Given the description of an element on the screen output the (x, y) to click on. 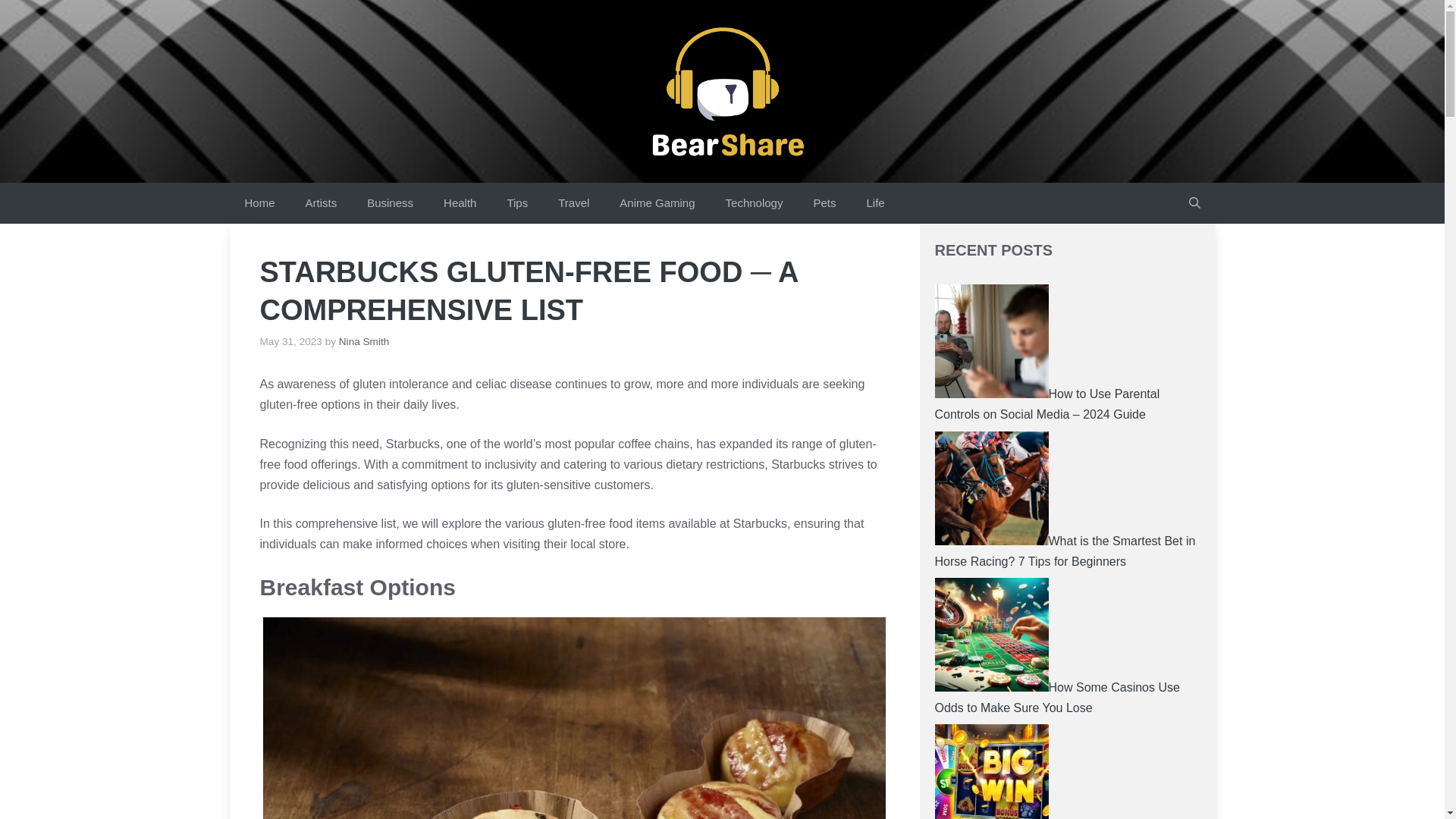
How Some Casinos Use Odds to Make Sure You Lose (1056, 697)
Travel (573, 202)
Pets (823, 202)
Business (390, 202)
Life (874, 202)
Home (258, 202)
Anime Gaming (657, 202)
Health (460, 202)
Technology (753, 202)
Nina Smith (363, 341)
Artists (320, 202)
Tips (517, 202)
View all posts by Nina Smith (363, 341)
